Given the description of an element on the screen output the (x, y) to click on. 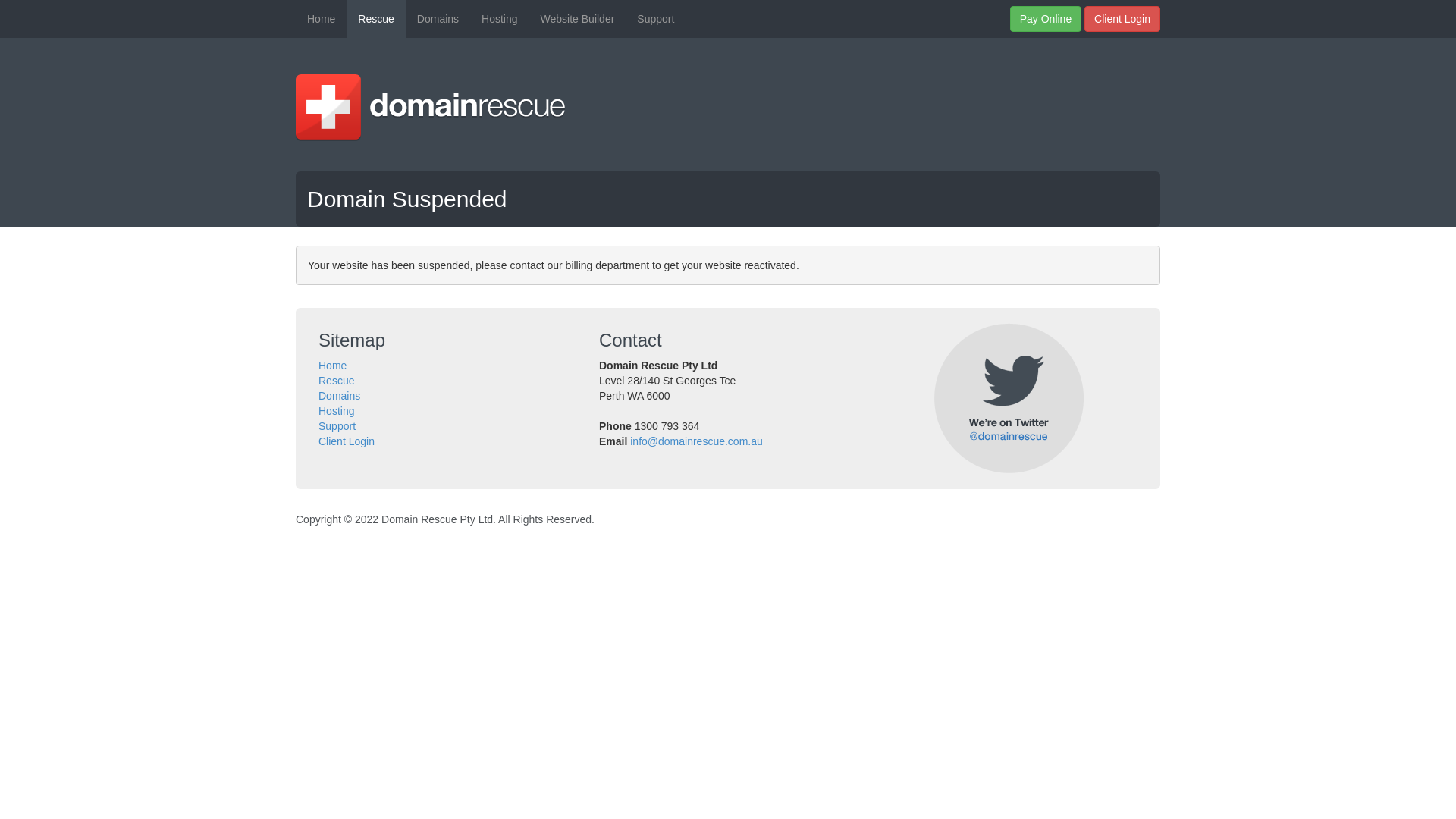
Hosting Element type: text (499, 18)
Home Element type: text (332, 365)
Home Element type: text (320, 18)
Client Login Element type: text (1122, 18)
info@domainrescue.com.au Element type: text (696, 441)
Domains Element type: text (339, 395)
Rescue Element type: text (336, 380)
Support Element type: text (655, 18)
Support Element type: text (336, 426)
Pay Online Element type: text (1045, 18)
Rescue Element type: text (375, 18)
Client Login Element type: text (346, 441)
Website Builder Element type: text (577, 18)
Hosting Element type: text (336, 410)
Domains Element type: text (437, 18)
